Given the description of an element on the screen output the (x, y) to click on. 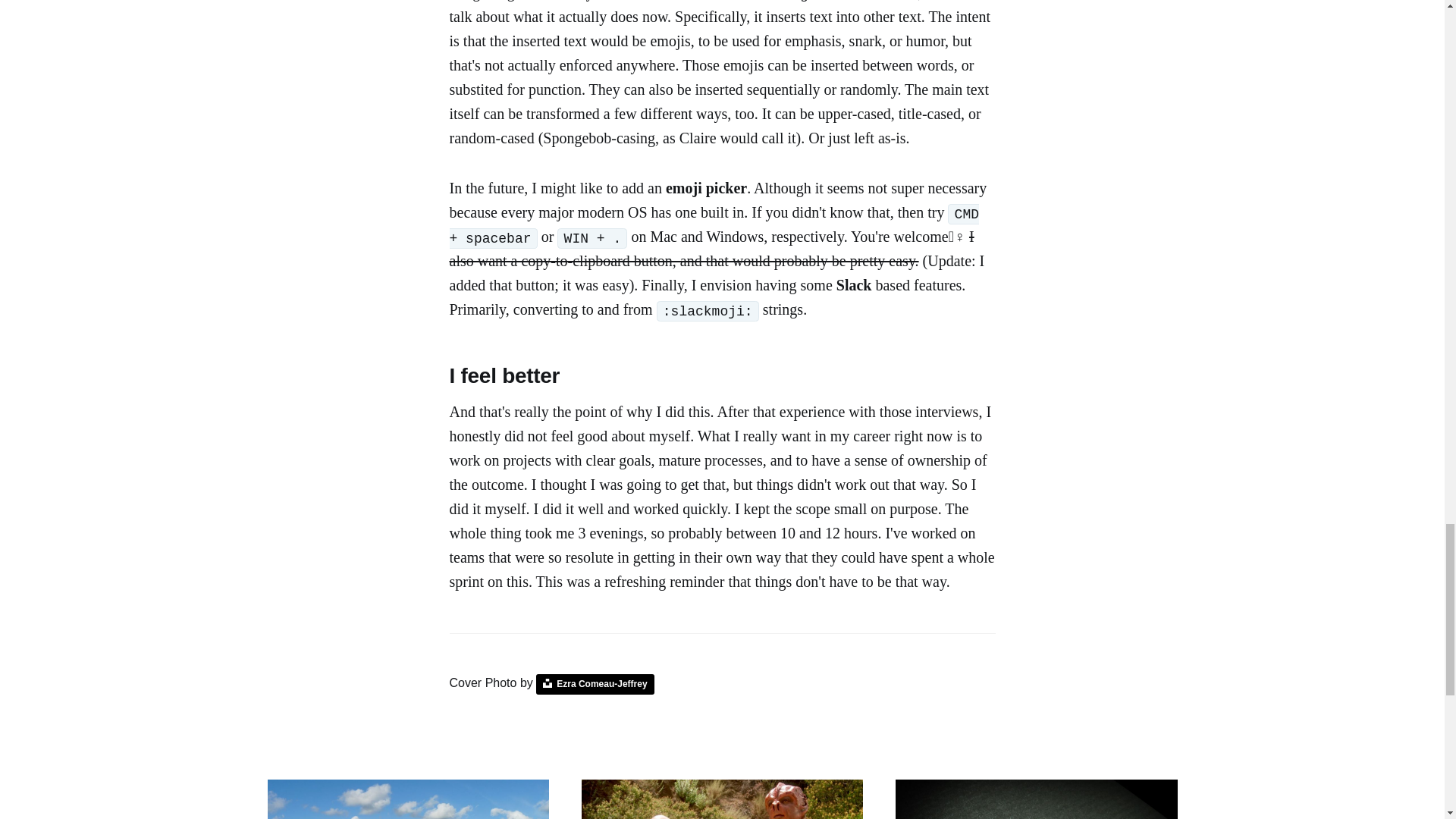
unsplash-logo (547, 682)
unsplash-logoEzra Comeau-Jeffrey (594, 683)
